Given the description of an element on the screen output the (x, y) to click on. 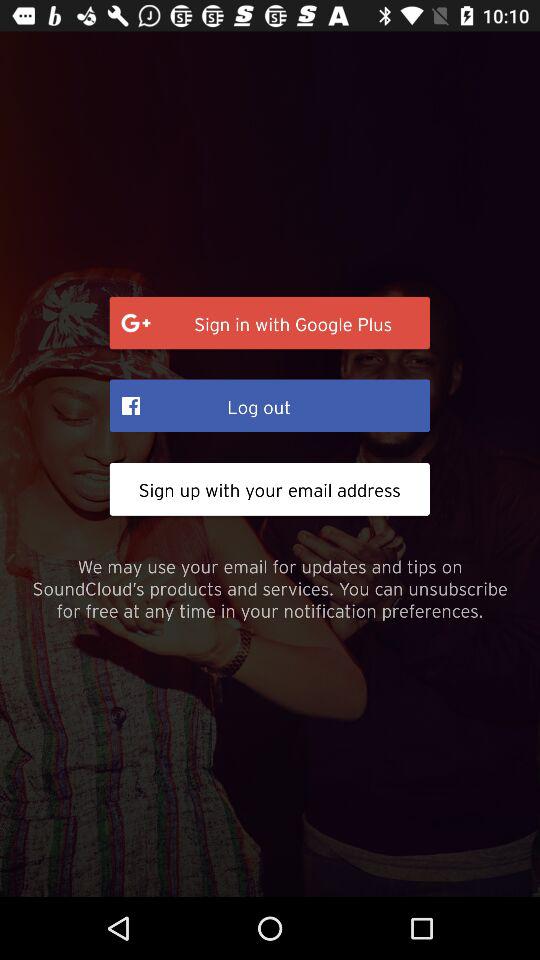
swipe to the log out (269, 405)
